Given the description of an element on the screen output the (x, y) to click on. 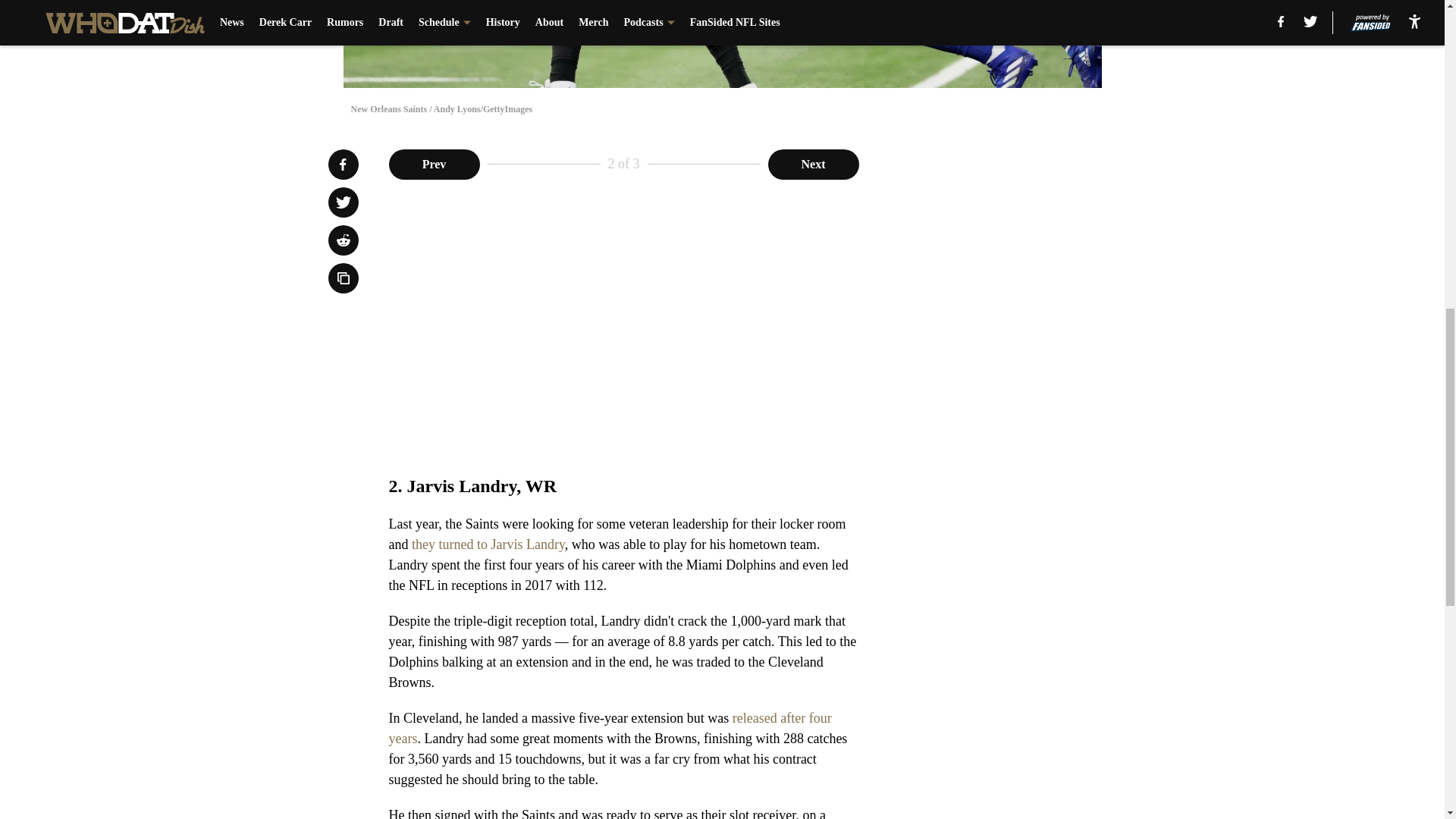
Prev (433, 163)
released after four years (609, 728)
Next (813, 163)
they turned to Jarvis Landry (488, 544)
New Orleans Saints (721, 43)
